Given the description of an element on the screen output the (x, y) to click on. 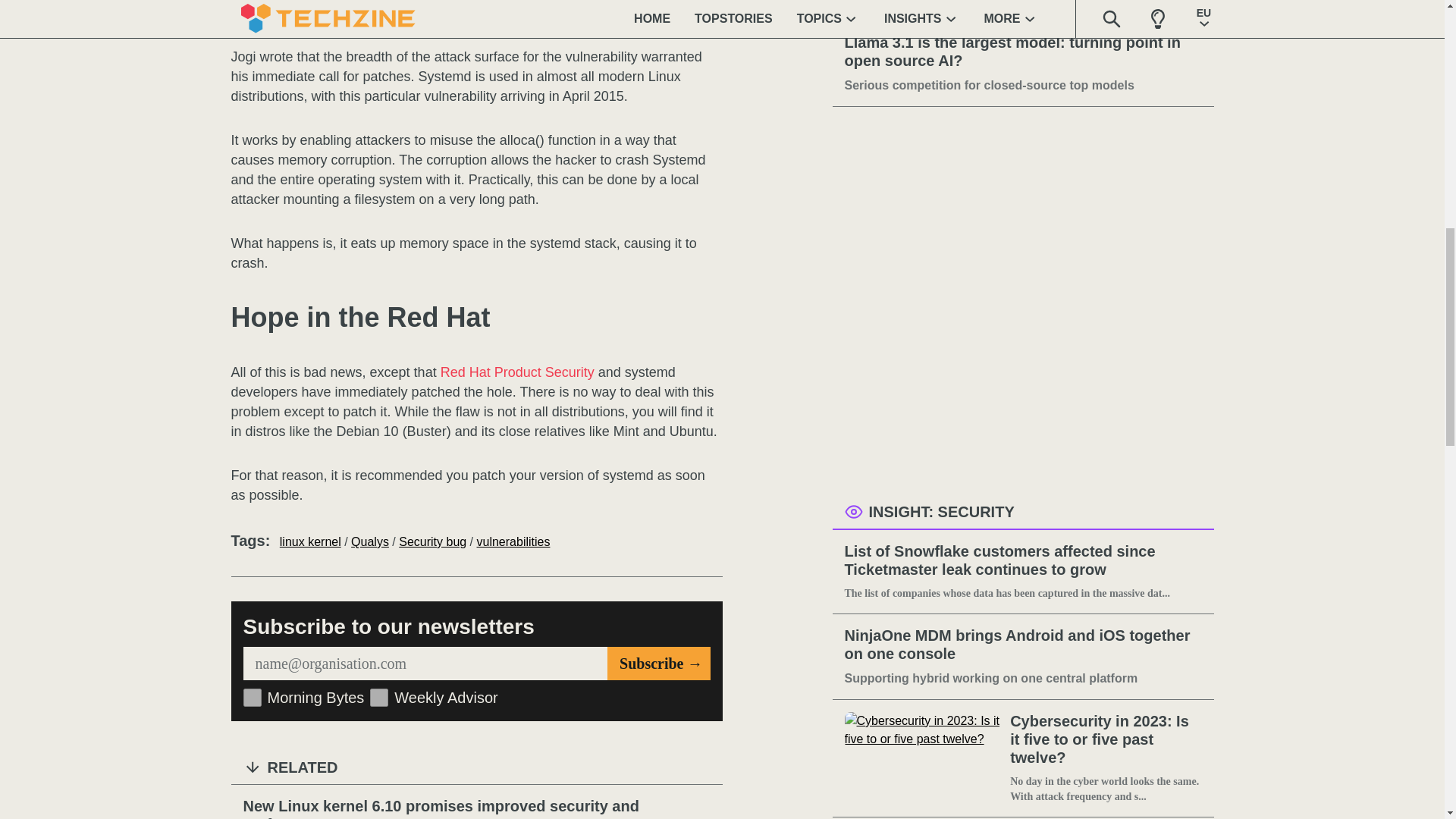
NinjaOne MDM brings Android and iOS together on one console (1023, 645)
Cybersecurity in 2023: Is it five to or five past twelve? (924, 757)
84623970802861205 (251, 697)
84623981521405447 (378, 697)
Cybersecurity in 2023: Is it five to or five past twelve? (1105, 739)
